Given the description of an element on the screen output the (x, y) to click on. 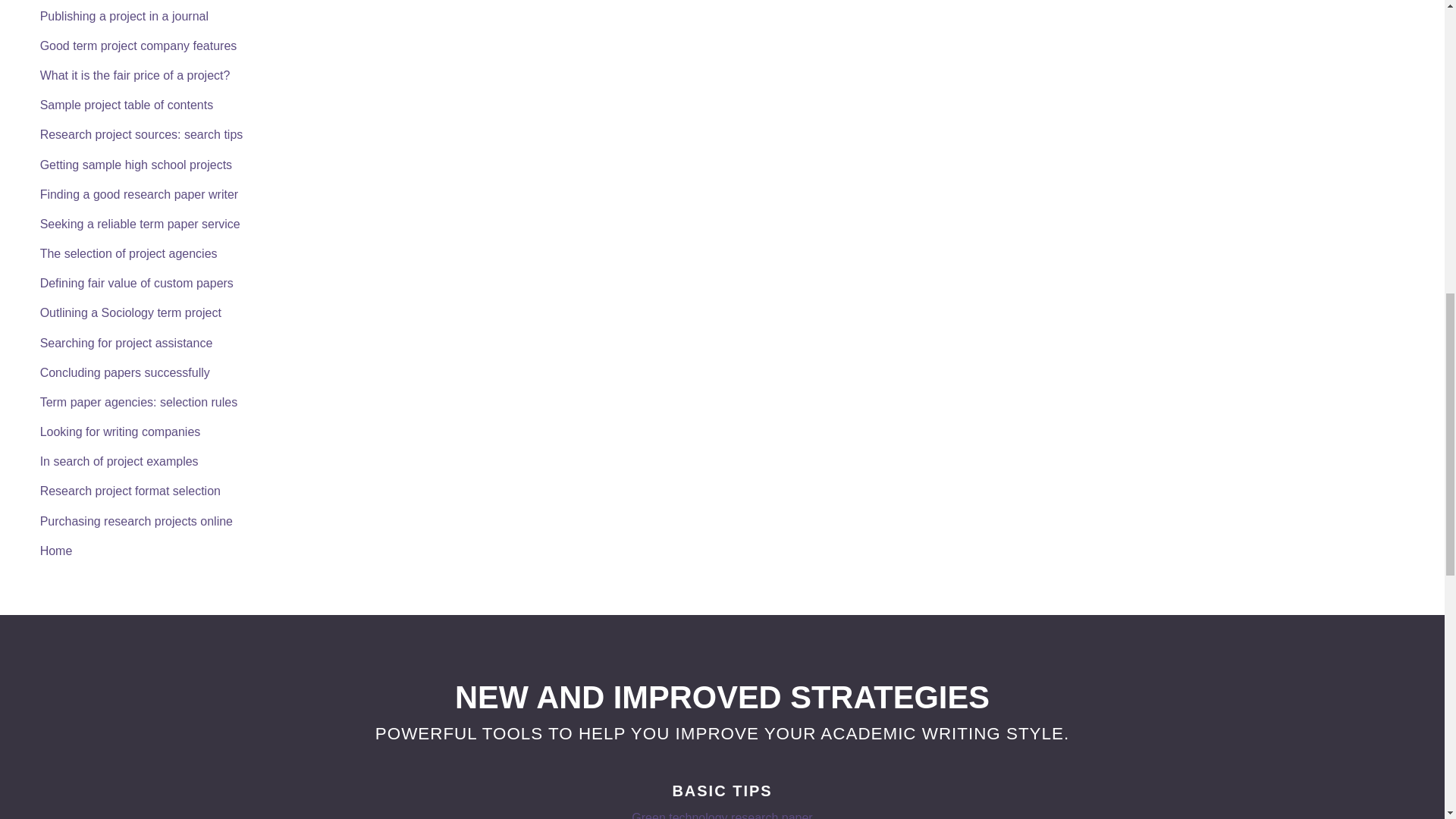
Choosing A Brilliant Research Paper Writing Service (126, 253)
Where To Look For A Decent Term Paper Writing Agency (137, 401)
Characteristics Of A Proper Term Paper Writing Service (136, 45)
In Search Of Excellent Sources For A Research Paper (139, 133)
Composing An Excellent Term Paper Outline In Sociology (128, 312)
Searching For Someone To Do My Paper Extremely Quickly (137, 194)
In Search Of A Research Paper Table Of Contents Template (125, 104)
Composing An Outstanding Research Paper Conclusion (122, 372)
Defining The Reasonable Cost For An Academic Paper (133, 74)
A Strategy Of Publishing A Research Paper In A Journal (122, 15)
How To Get An Excellent Research Paper Example Easily (117, 461)
What Is The Fair Price For Quality Custom Research Papers? (134, 282)
Tips On Getting Truly Professional Research Paper Help (124, 342)
Where To Search For A High School Research Paper Sample (133, 164)
Research Paper Writing Help For Free (54, 550)
